Given the description of an element on the screen output the (x, y) to click on. 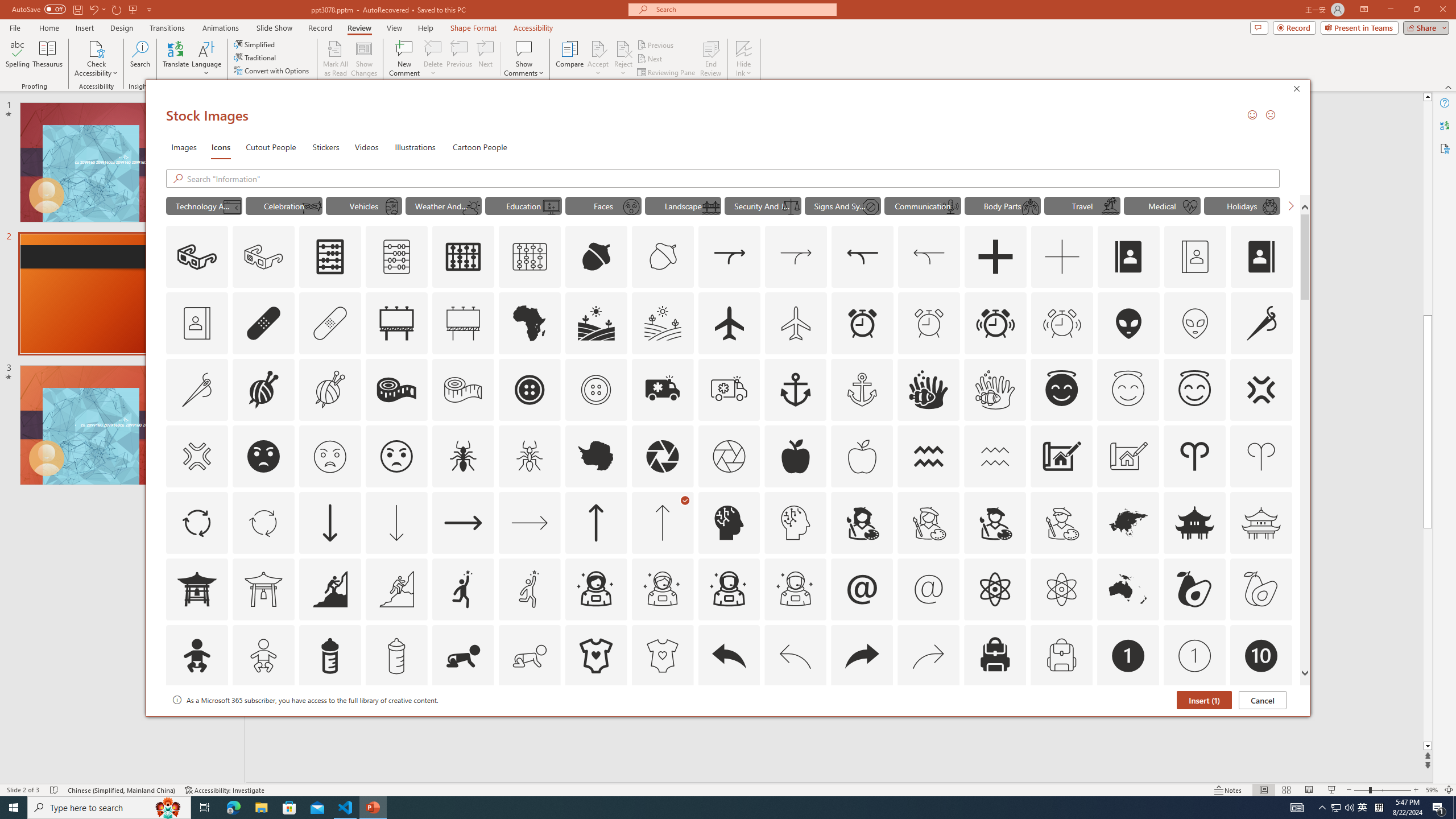
AutomationID: Icons_Advertising_M (462, 323)
"Celebration" Icons. (283, 205)
AutomationID: Icons_BabyOnesie_M (662, 655)
AutomationID: Icons_Agriculture_M (663, 323)
Search "Information" (733, 178)
